Given the description of an element on the screen output the (x, y) to click on. 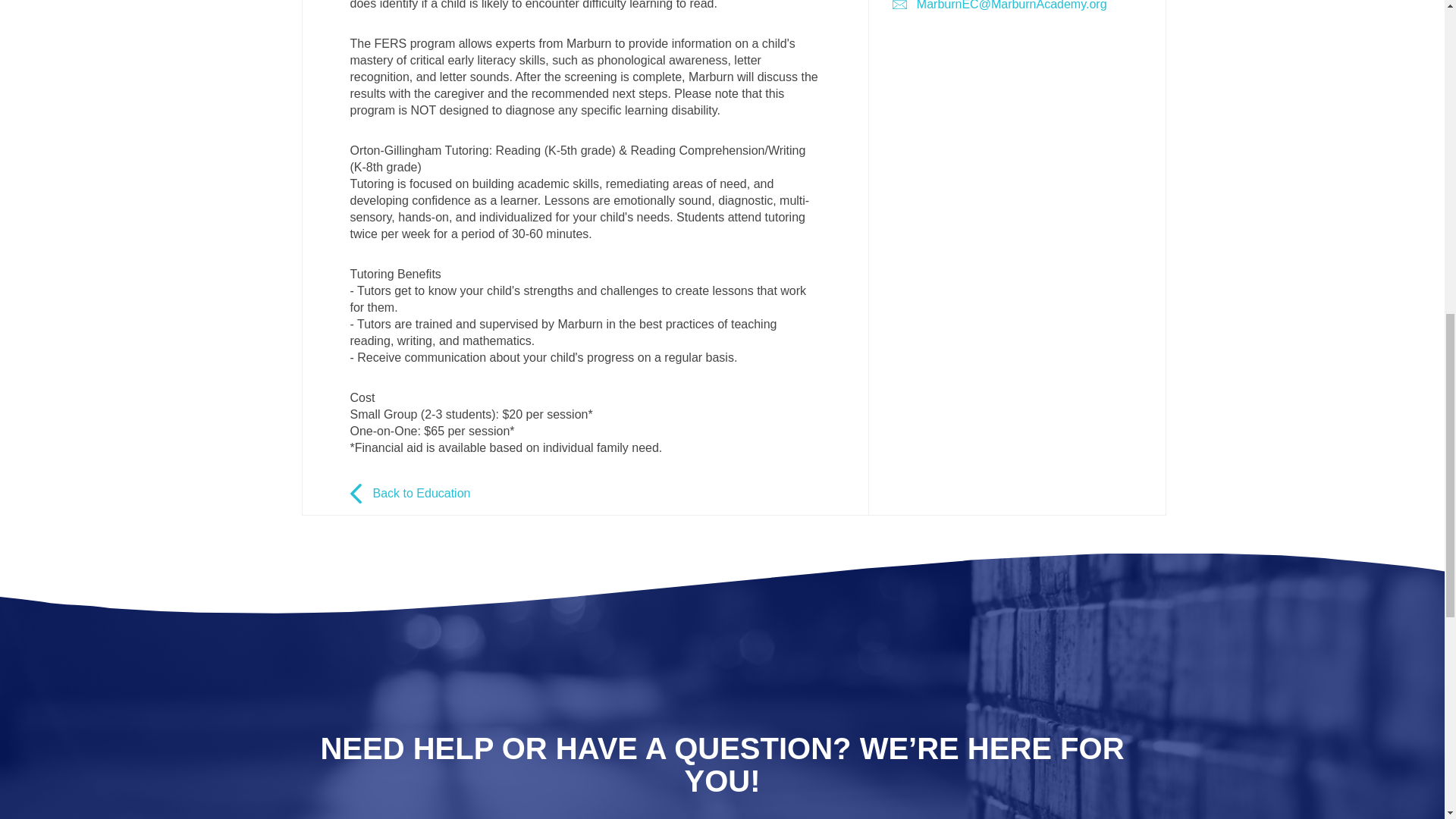
Back to Education (585, 493)
